Given the description of an element on the screen output the (x, y) to click on. 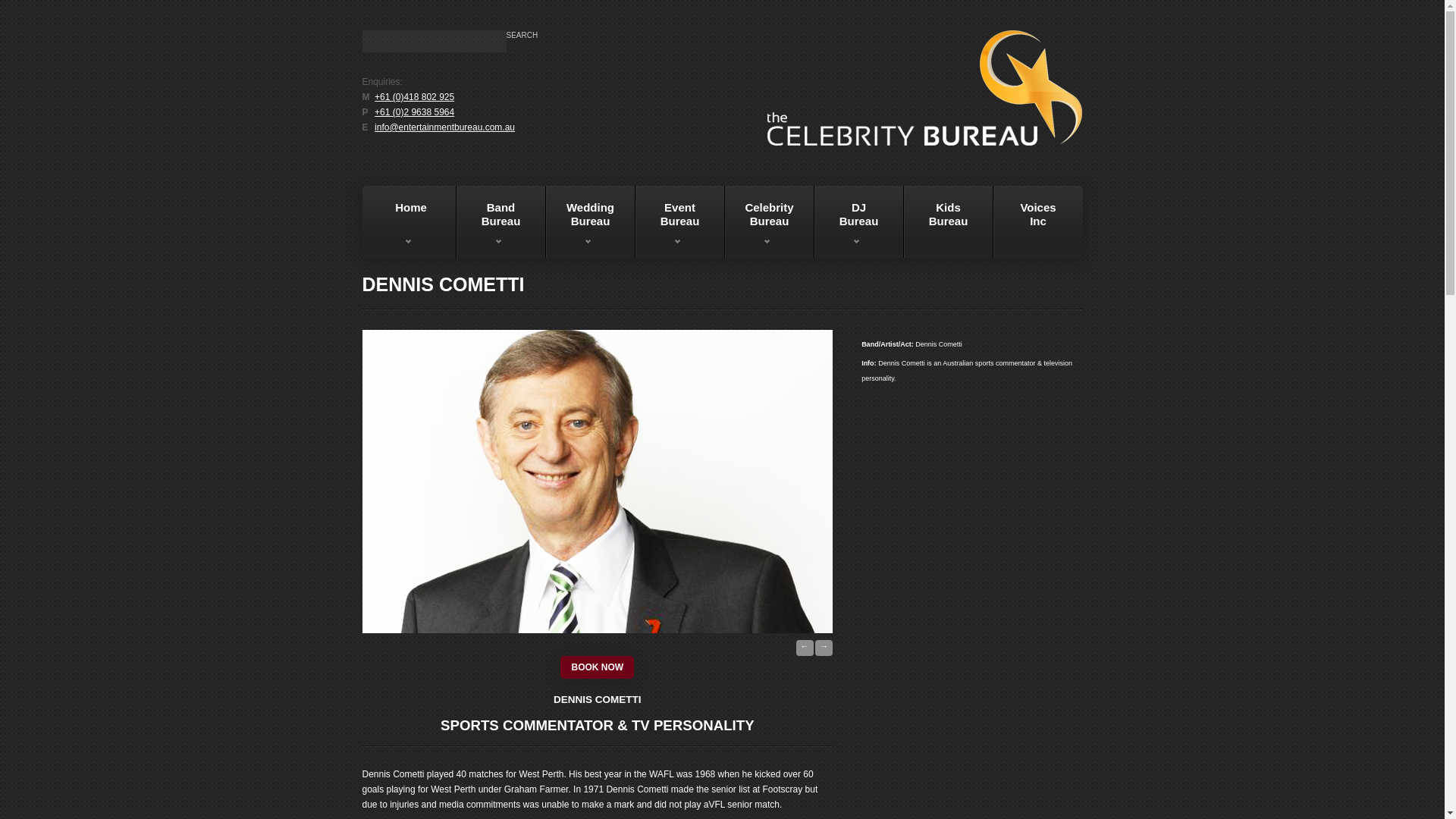
Search (948, 221)
Search (522, 35)
